Given the description of an element on the screen output the (x, y) to click on. 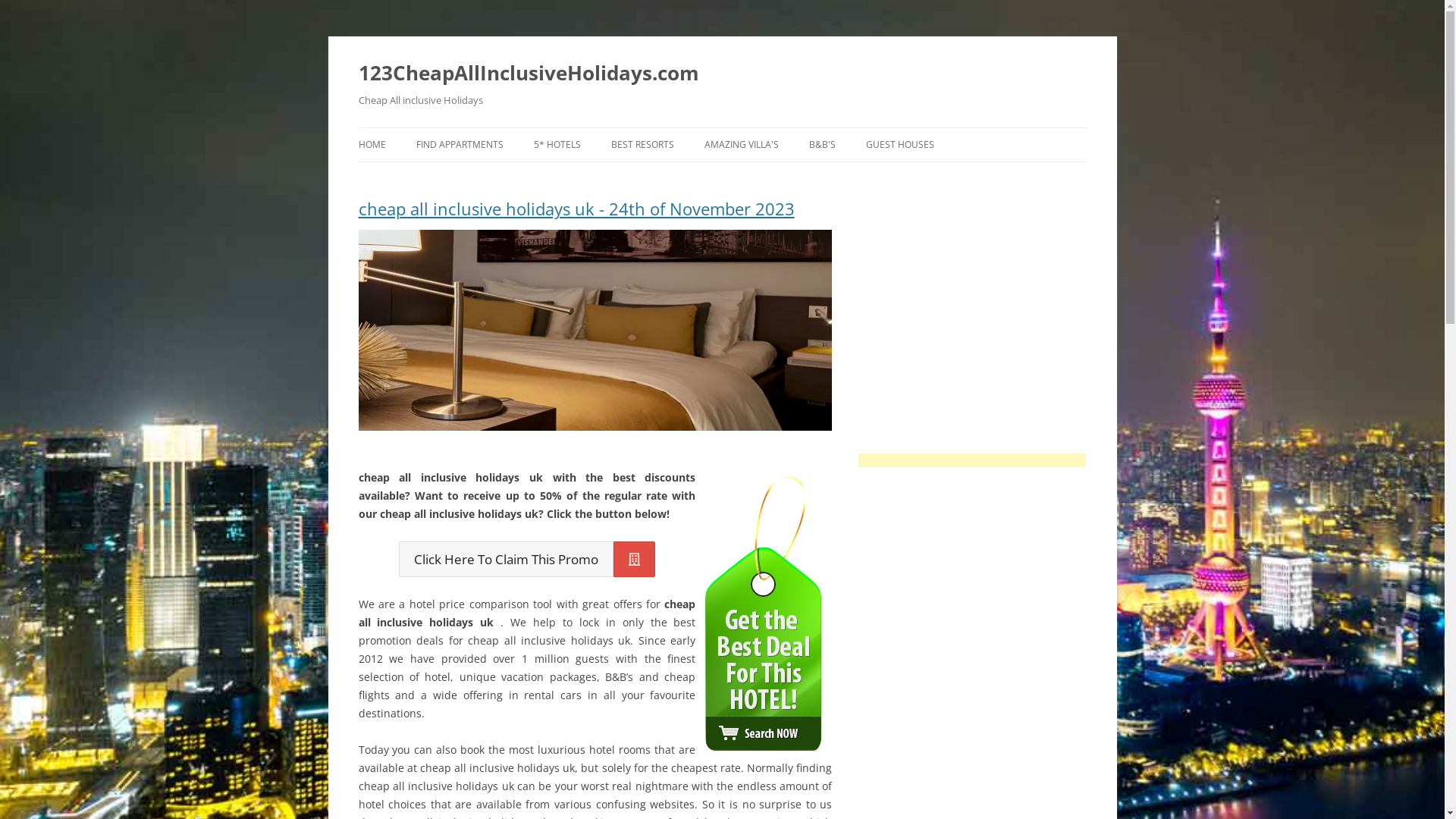
Skip to content Element type: text (721, 127)
Click Here To Claim This Promo Element type: text (526, 559)
GUEST HOUSES Element type: text (900, 144)
B&B'S Element type: text (821, 144)
BEST RESORTS Element type: text (642, 144)
cheap all inclusive holidays uk - 24th of November 2023 Element type: text (594, 214)
AMAZING VILLA'S Element type: text (740, 144)
5* HOTELS Element type: text (556, 144)
123CheapAllInclusiveHolidays.com Element type: text (527, 72)
FIND APPARTMENTS Element type: text (458, 144)
HOME Element type: text (371, 144)
